Given the description of an element on the screen output the (x, y) to click on. 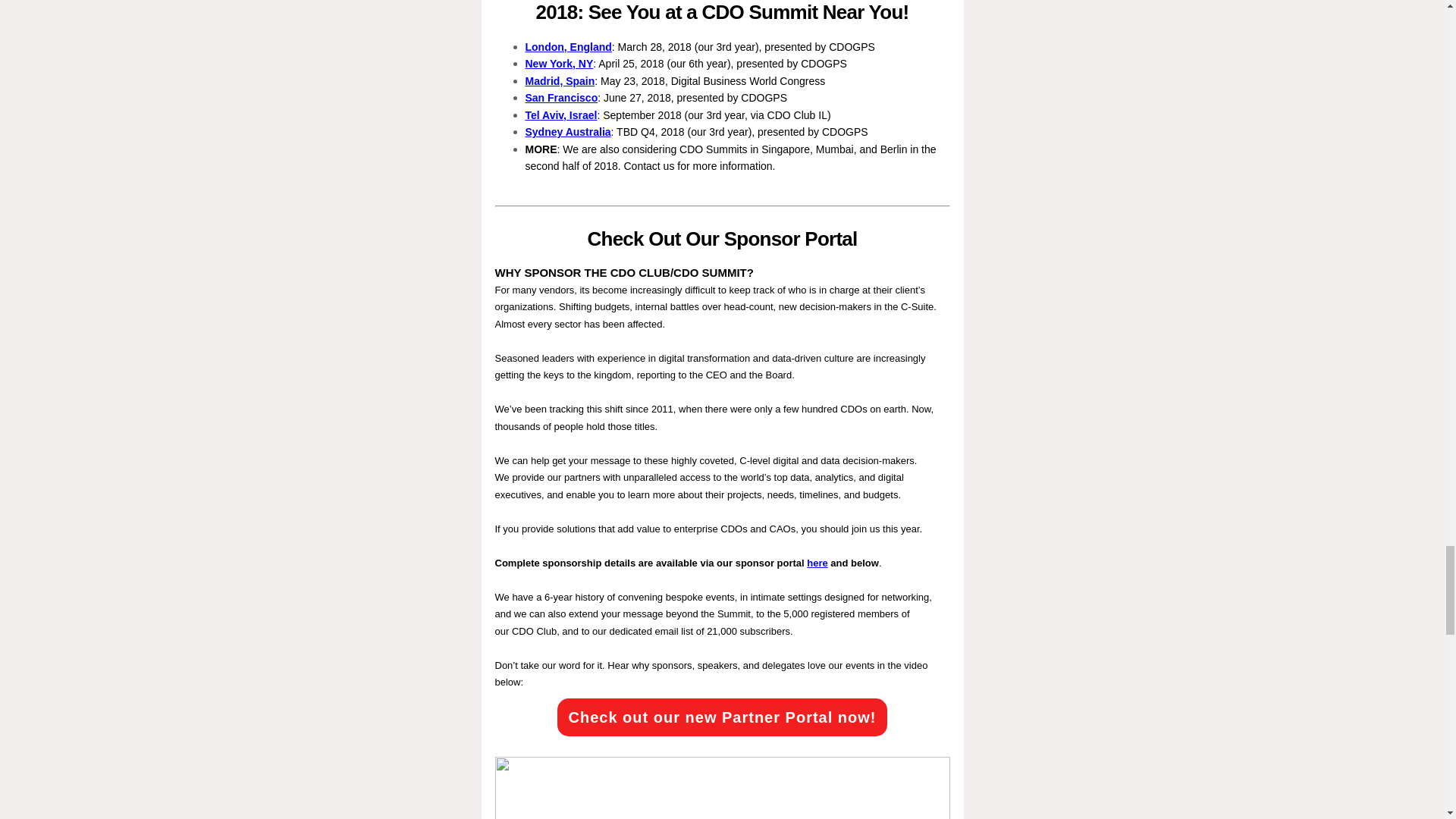
Tel Aviv, Israel (560, 114)
Check out our new Partner Portal now! (722, 716)
Madrid, Spain (559, 80)
New York, NY (558, 63)
London, England (567, 46)
here (816, 562)
Check out our new Partner Portal now! (722, 716)
Sydney Australia (567, 132)
San Francisco (560, 97)
